Given the description of an element on the screen output the (x, y) to click on. 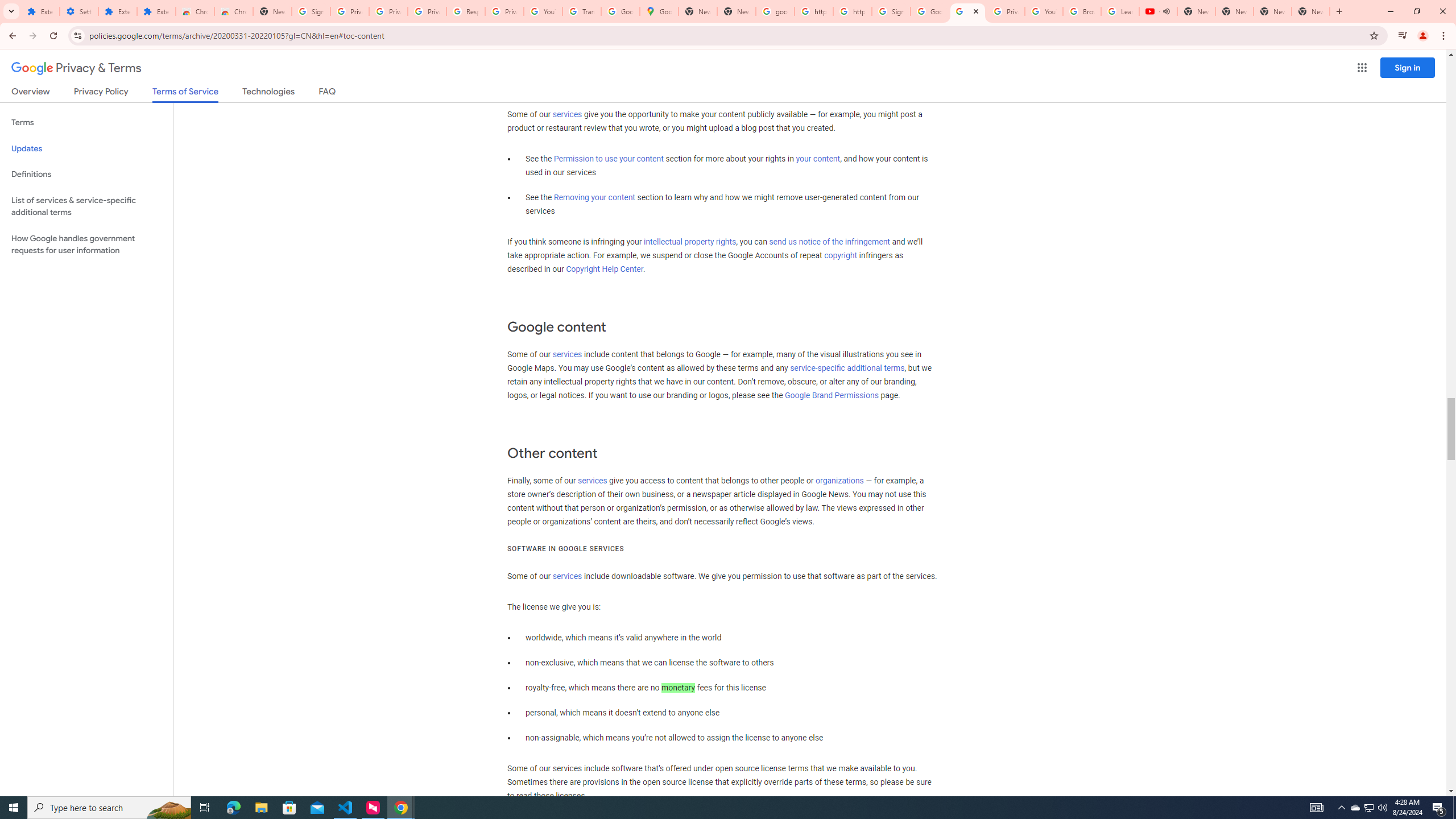
How Google handles government requests for user information (86, 244)
Copyright Help Center (604, 269)
Permission to use your content (608, 158)
